Given the description of an element on the screen output the (x, y) to click on. 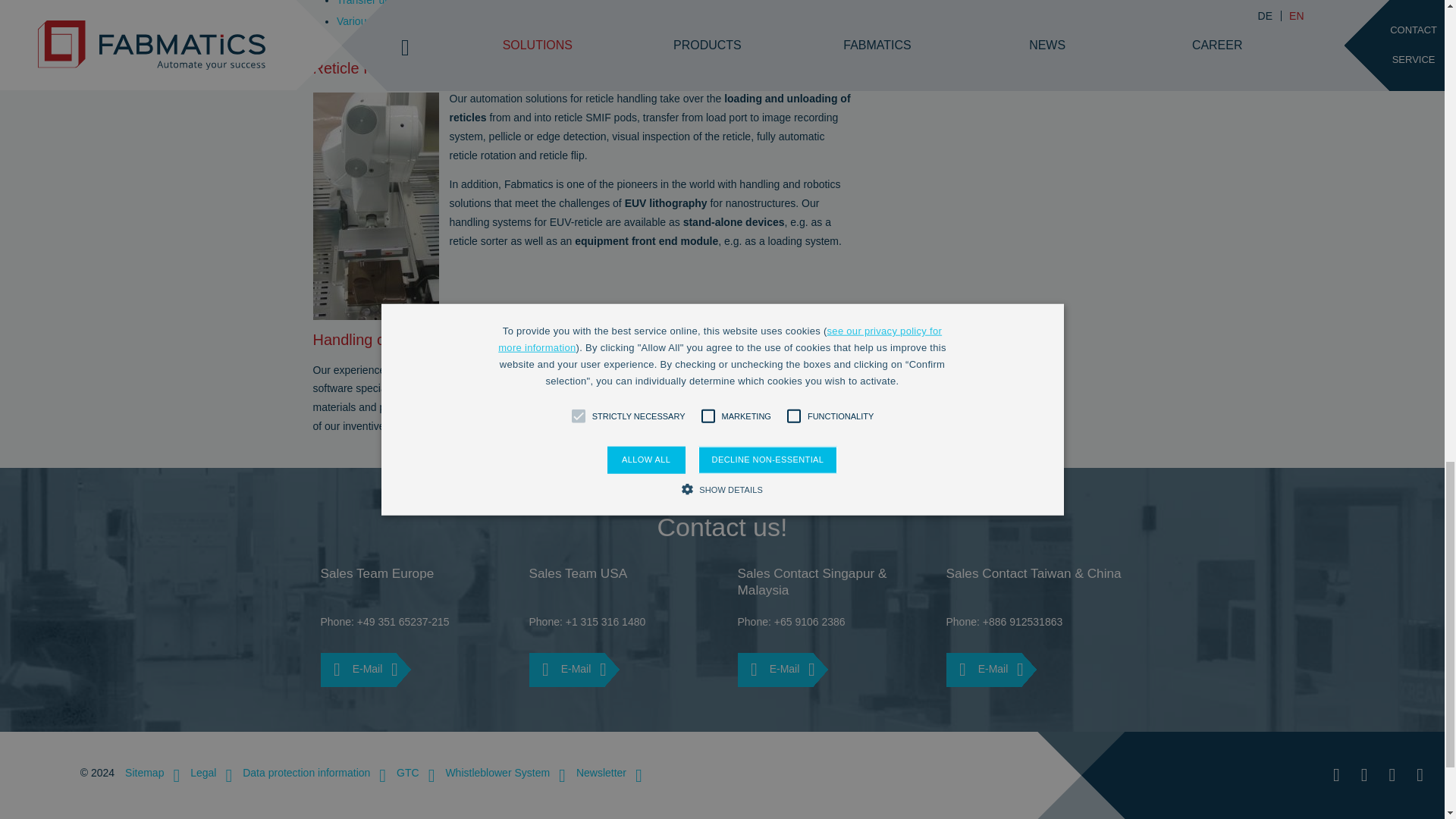
E-Mail (566, 669)
GTC (409, 772)
SCIO Website (1270, 774)
Data protection information (308, 772)
Whistleblower System (498, 772)
Legal (205, 772)
Transfer units for simultaneous transfer of 25 Wafers (467, 2)
Various end efectors (393, 21)
Sitemap (147, 772)
E-Mail (357, 669)
